Given the description of an element on the screen output the (x, y) to click on. 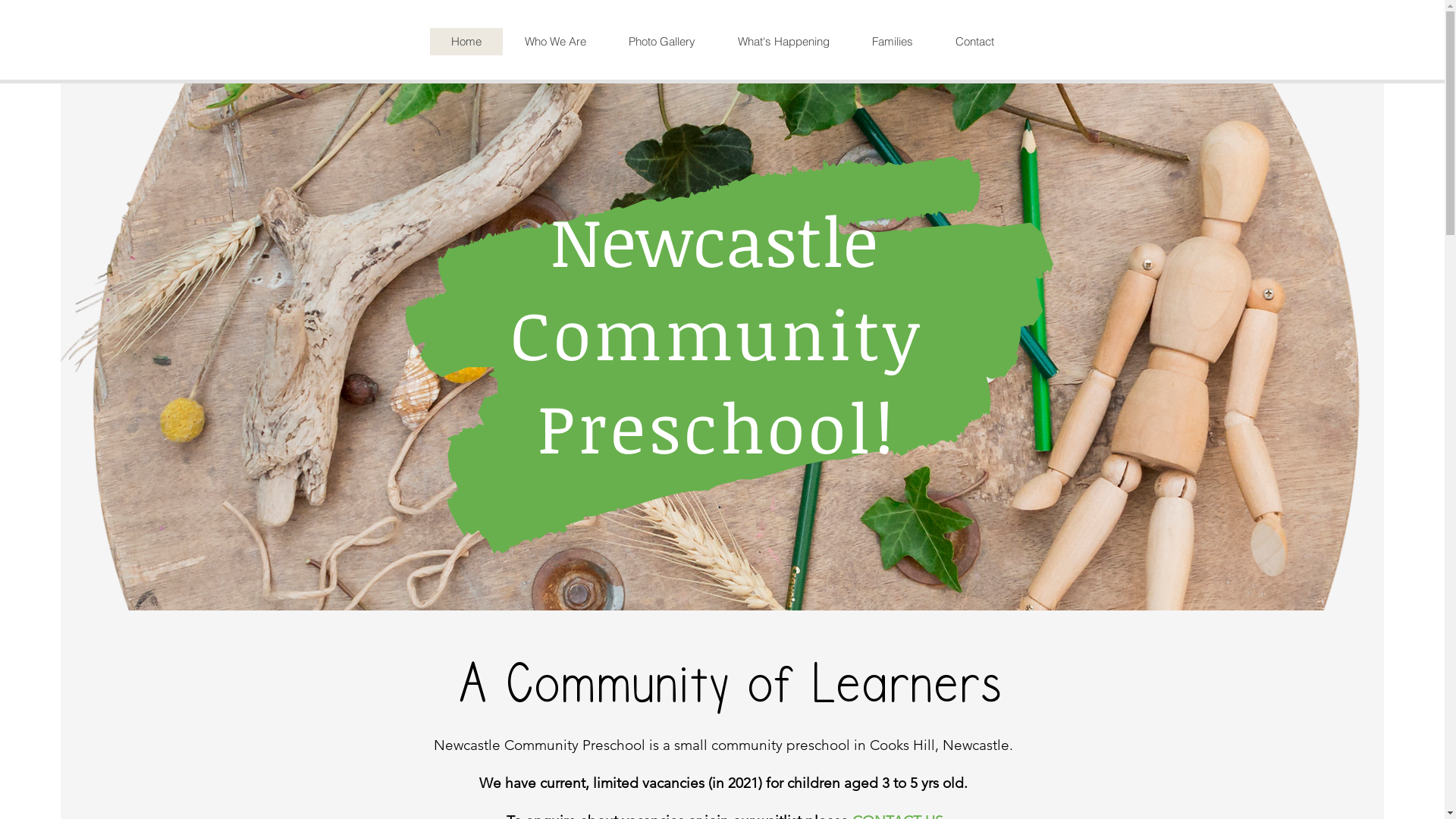
Home Element type: text (465, 41)
Families Element type: text (892, 41)
Photo Gallery Element type: text (660, 41)
Contact Element type: text (974, 41)
What's Happening Element type: text (782, 41)
Who We Are Element type: text (554, 41)
